Given the description of an element on the screen output the (x, y) to click on. 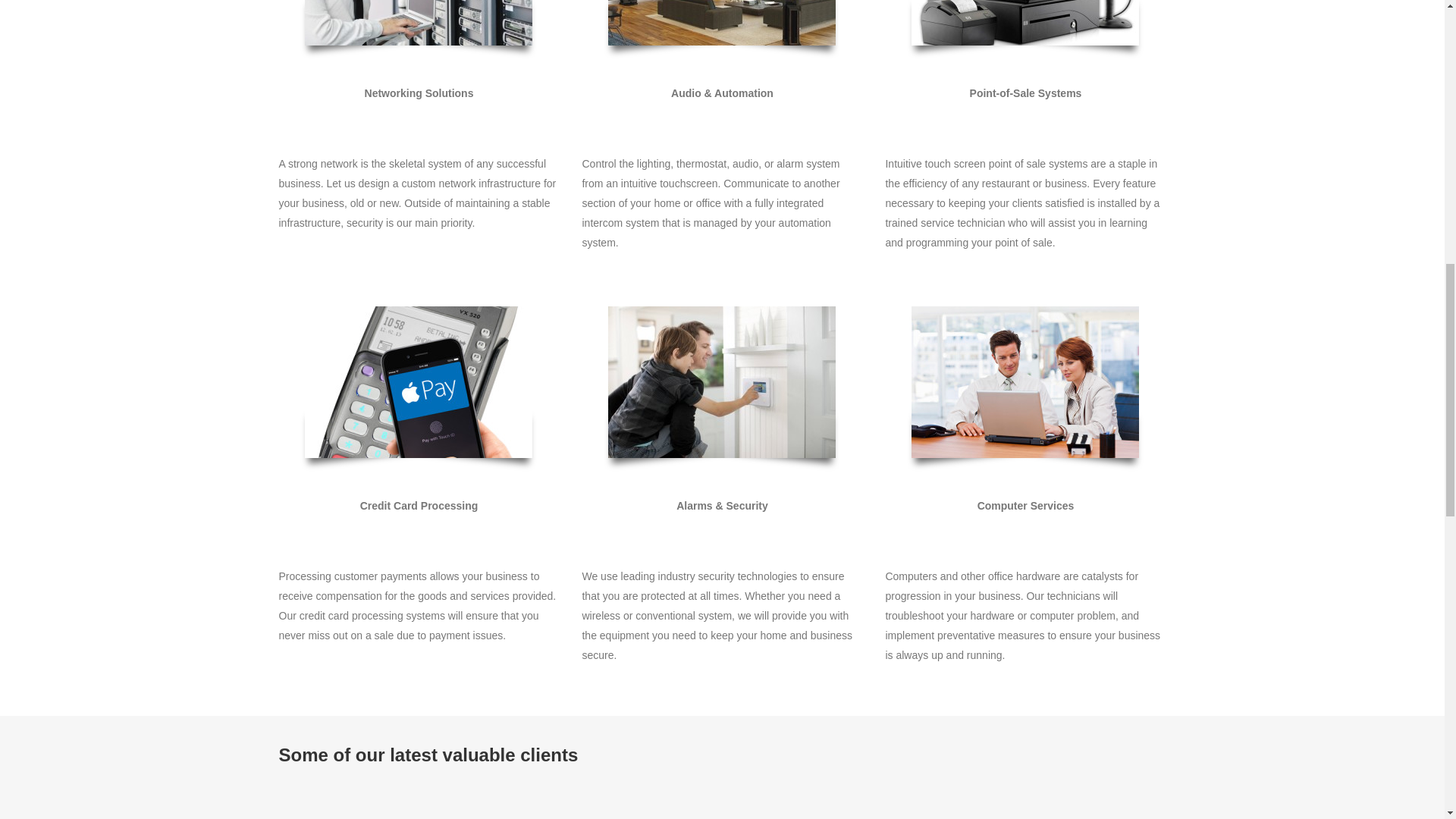
Steinway-Lyngdorf-LS-sound-system (721, 22)
Verifone - Apple Pay with credit card terminal (418, 381)
Point of sale system (1024, 22)
2gig system (721, 381)
